Given the description of an element on the screen output the (x, y) to click on. 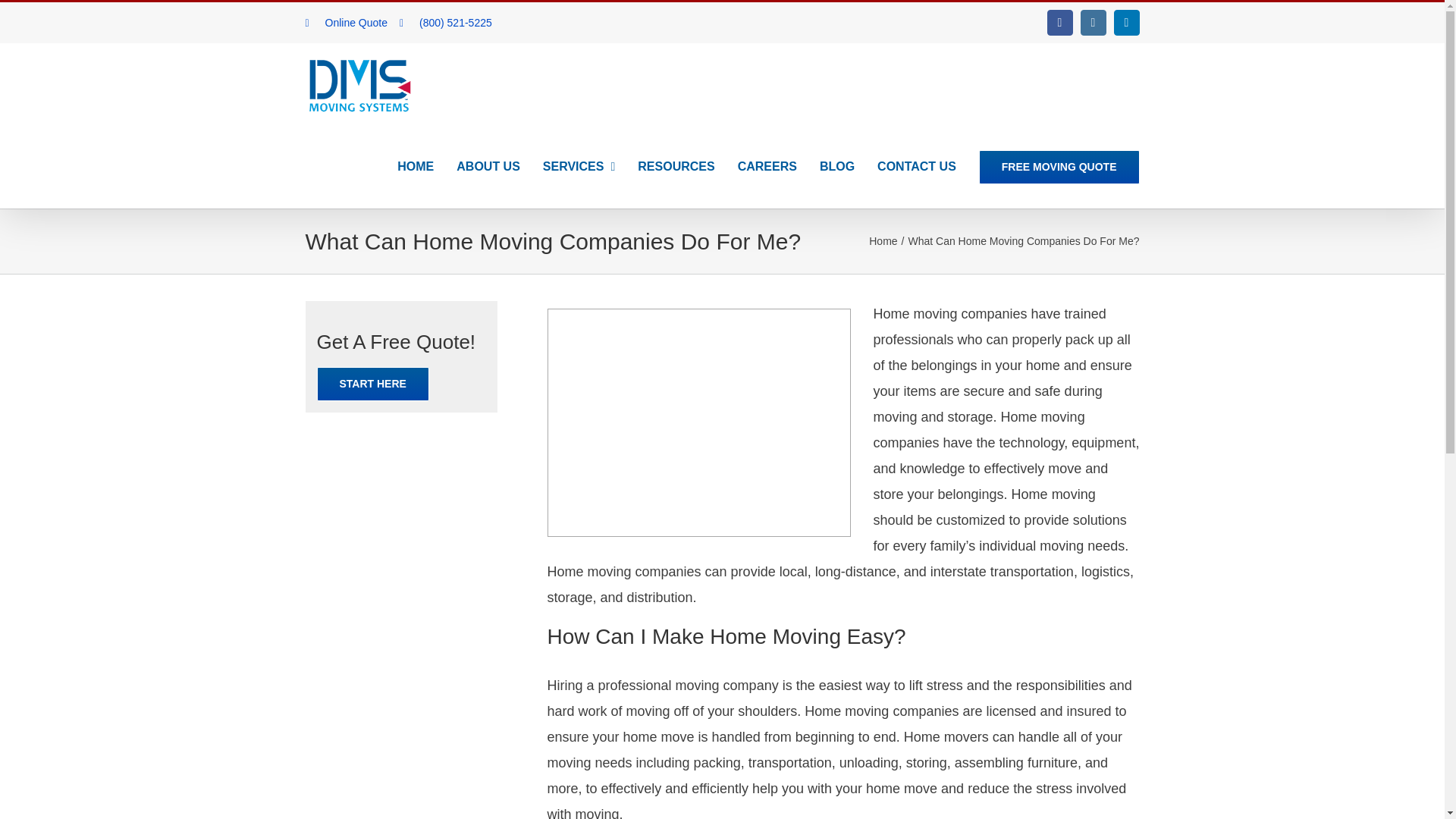
Instagram (1092, 22)
Online Quote (351, 22)
LinkedIn (1125, 22)
CONTACT US (916, 167)
FREE MOVING QUOTE (1059, 167)
Facebook (1058, 22)
Home (882, 241)
LinkedIn (1125, 22)
RESOURCES (675, 167)
View Larger Image (697, 422)
